Given the description of an element on the screen output the (x, y) to click on. 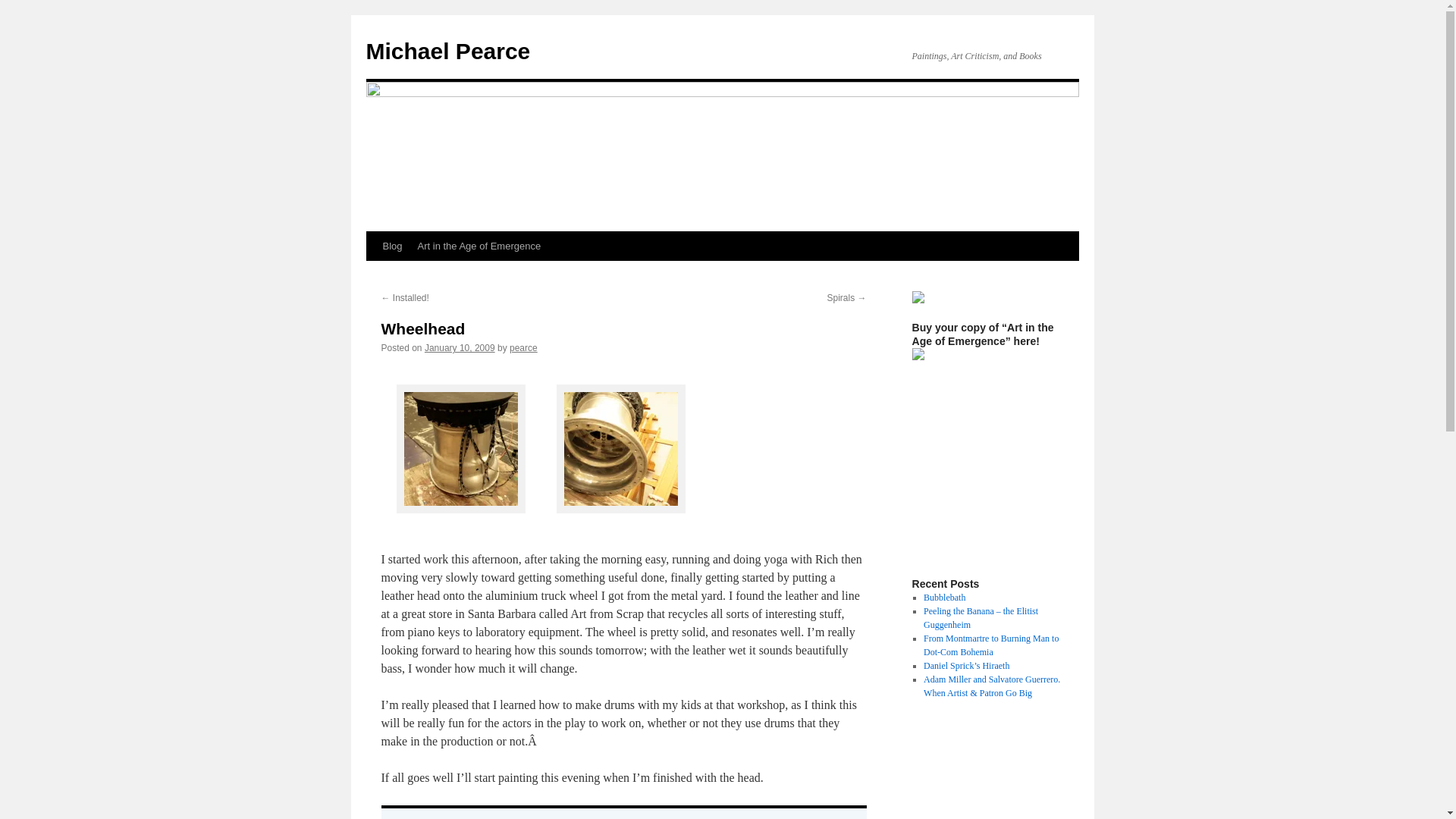
January 10, 2009 (460, 347)
Michael Pearce (447, 50)
Blog (391, 246)
Michael Pearce (447, 50)
From Montmartre to Burning Man to Dot-Com Bohemia (990, 645)
pearce (523, 347)
6:03 pm (460, 347)
View all posts by pearce (523, 347)
Bubblebath (944, 597)
Art in the Age of Emergence (479, 246)
